Given the description of an element on the screen output the (x, y) to click on. 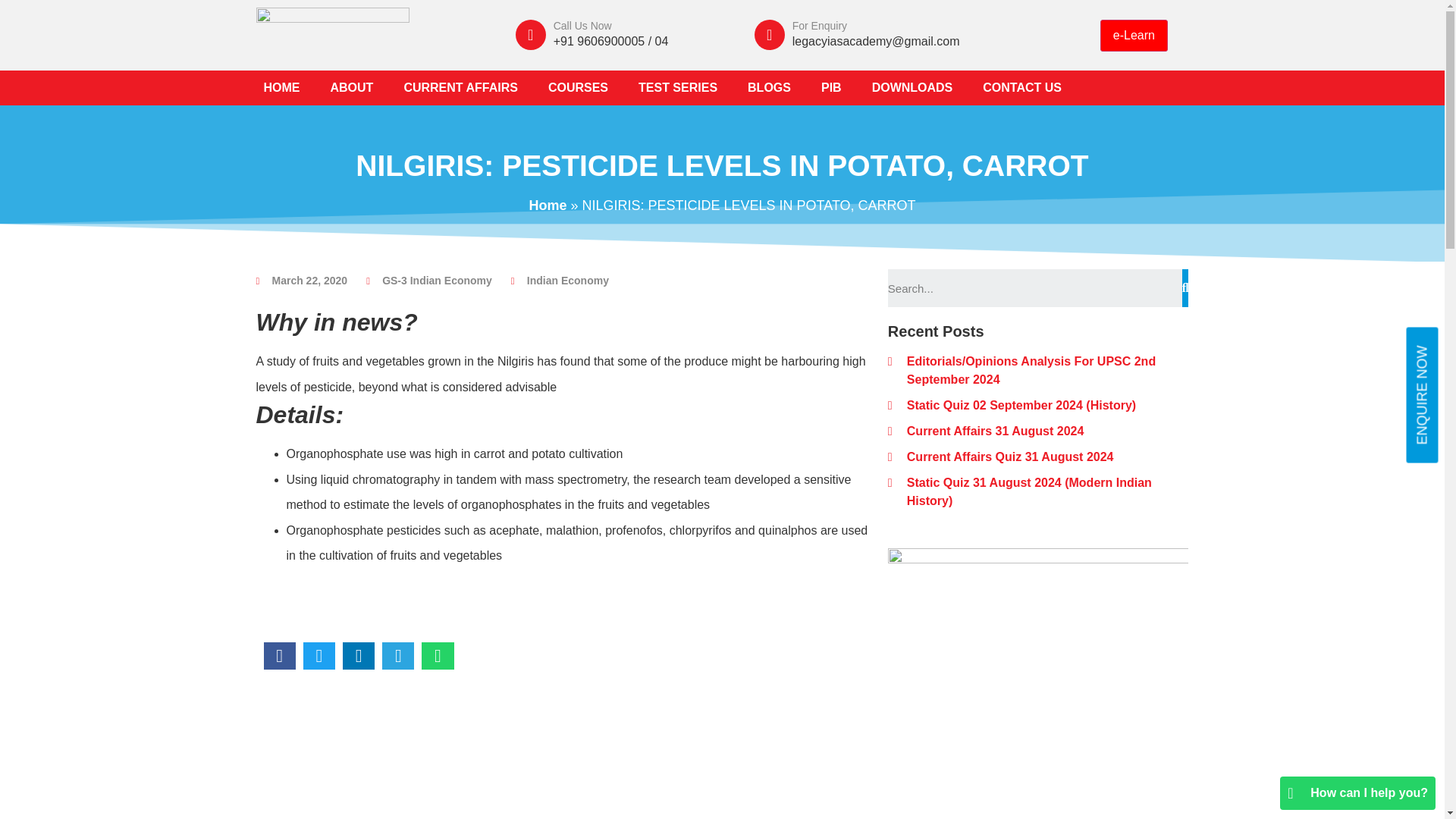
HOME (281, 87)
e-Learn (1133, 35)
About Legacy IAS (351, 87)
ABOUT (351, 87)
For Enquiry (819, 25)
e-Learn (1133, 34)
Call Us Now (582, 25)
CURRENT AFFAIRS (460, 87)
